Given the description of an element on the screen output the (x, y) to click on. 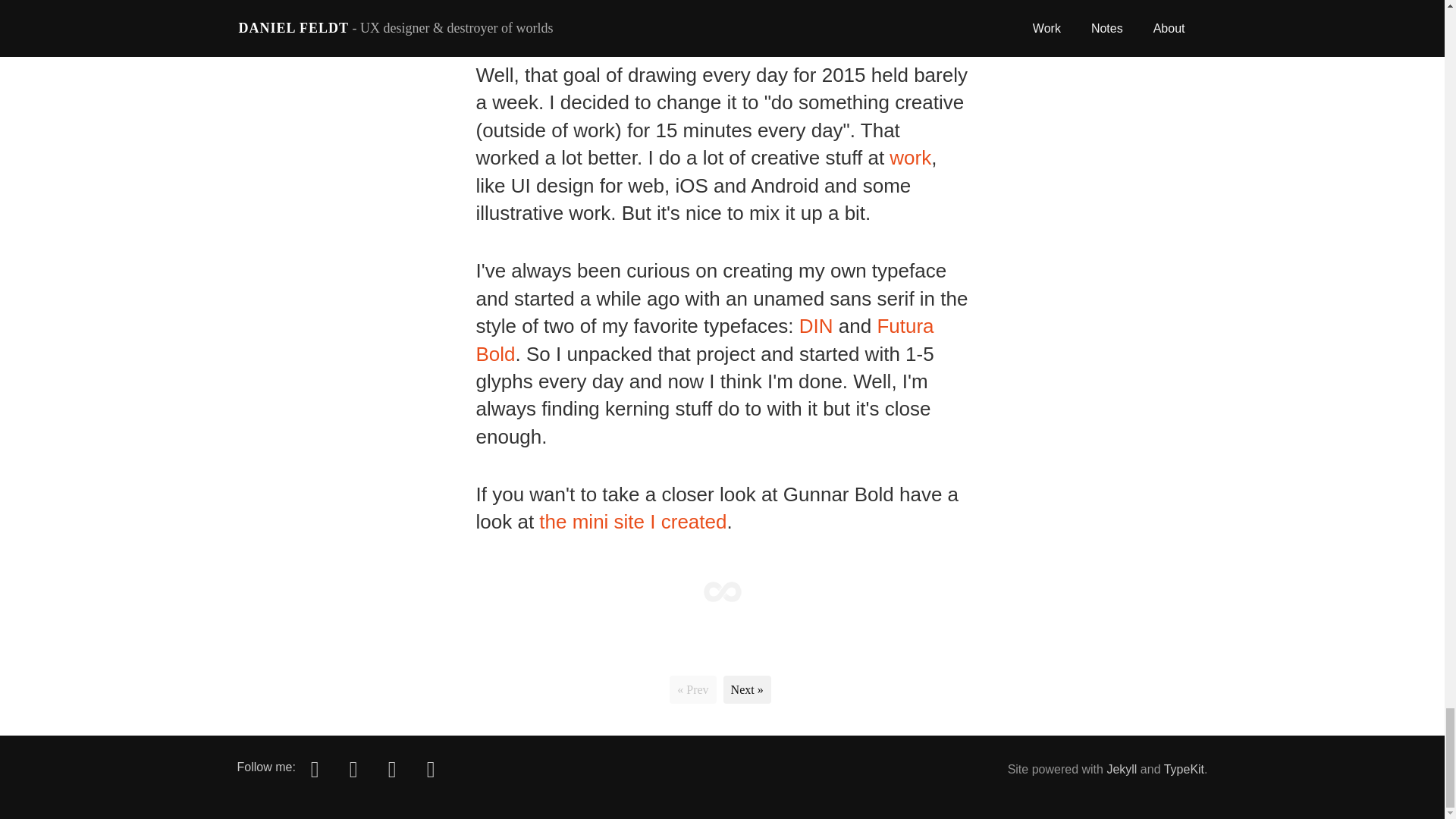
TypeKit (1183, 768)
work (910, 157)
DIN (815, 325)
Jekyll (1121, 768)
Futura Bold (705, 339)
the mini site I created (632, 521)
